Given the description of an element on the screen output the (x, y) to click on. 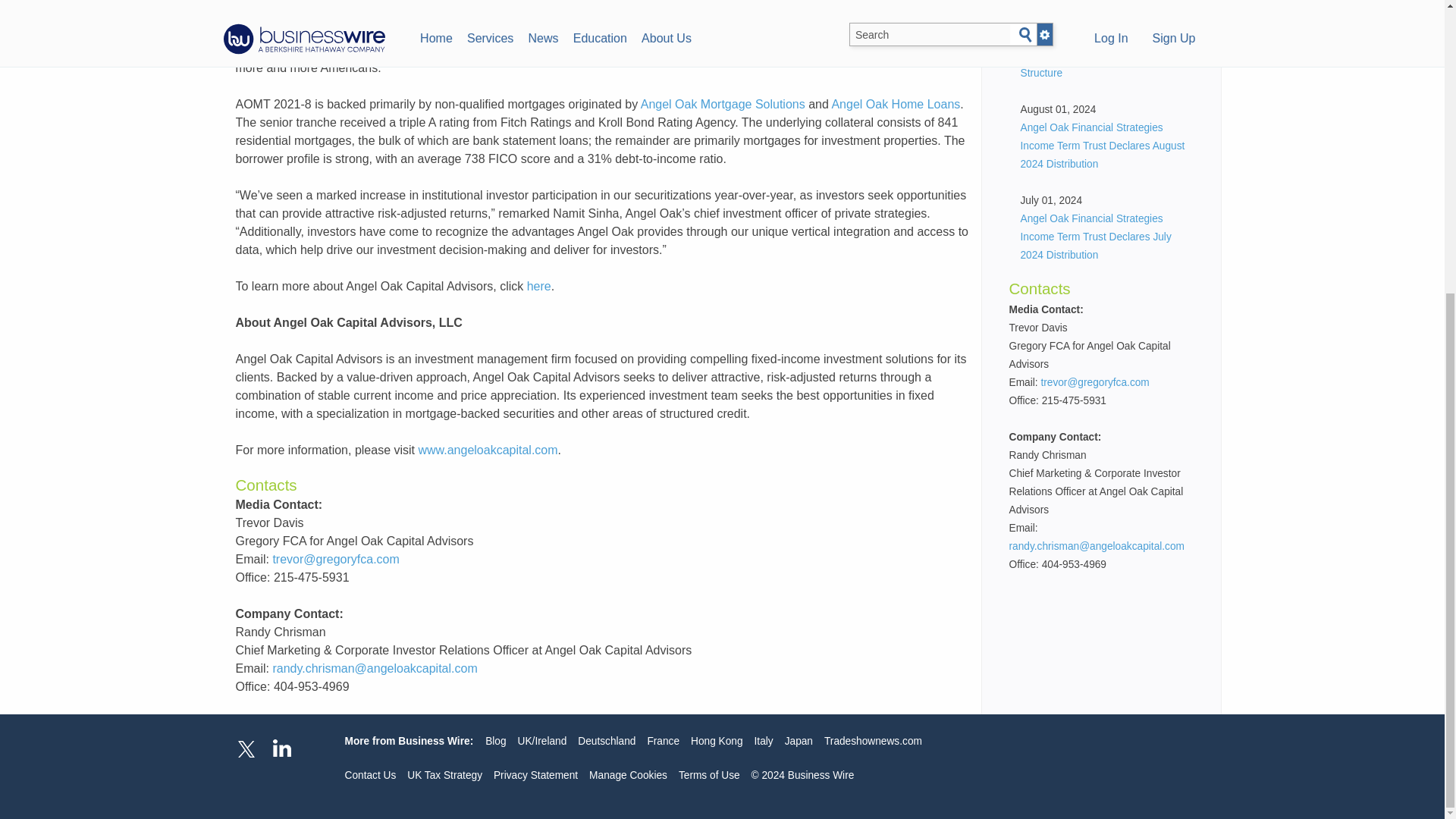
www.angeloakcapital.com (487, 449)
Angel Oak Mortgage Solutions (722, 103)
Angel Oak Home Loans (895, 103)
here (539, 286)
